Given the description of an element on the screen output the (x, y) to click on. 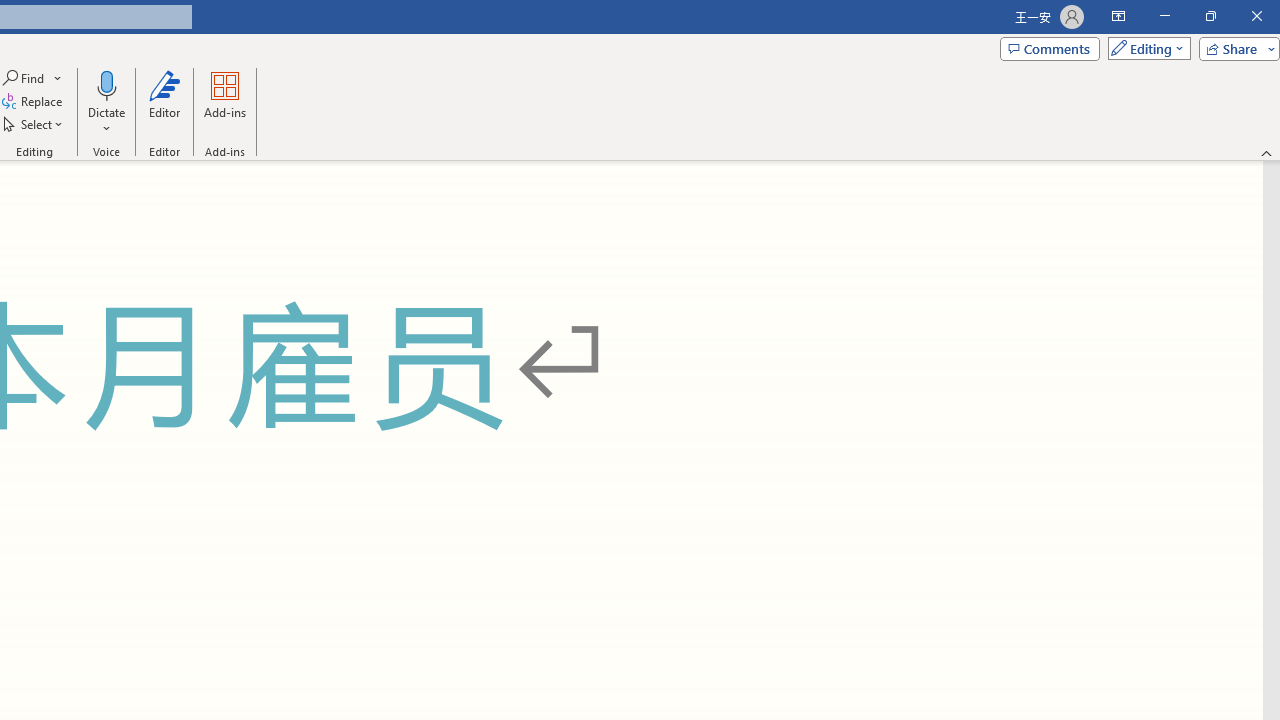
Dictate (106, 84)
Share (1235, 48)
Minimize (1164, 16)
Dictate (106, 102)
Close (1256, 16)
Editor (164, 102)
Ribbon Display Options (1118, 16)
Comments (1049, 48)
Restore Down (1210, 16)
Collapse the Ribbon (1267, 152)
Editing (1144, 47)
More Options (106, 121)
